Given the description of an element on the screen output the (x, y) to click on. 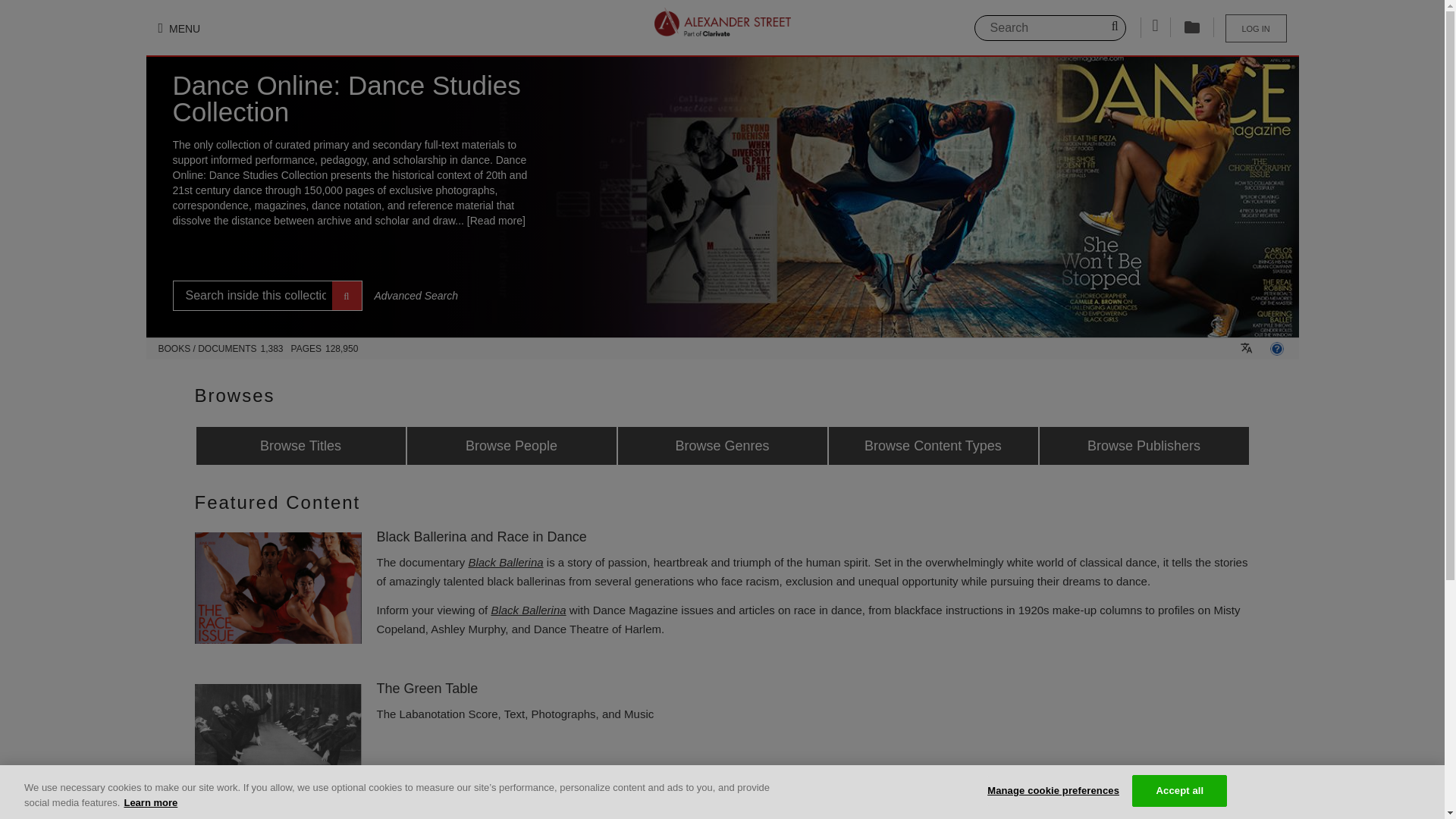
The Green Table (277, 739)
Help (1275, 348)
Please sign in to save your clips and playlists (1256, 28)
MENU (178, 28)
Black Ballerina and Race in Dance (277, 587)
LOG IN (1256, 28)
